Given the description of an element on the screen output the (x, y) to click on. 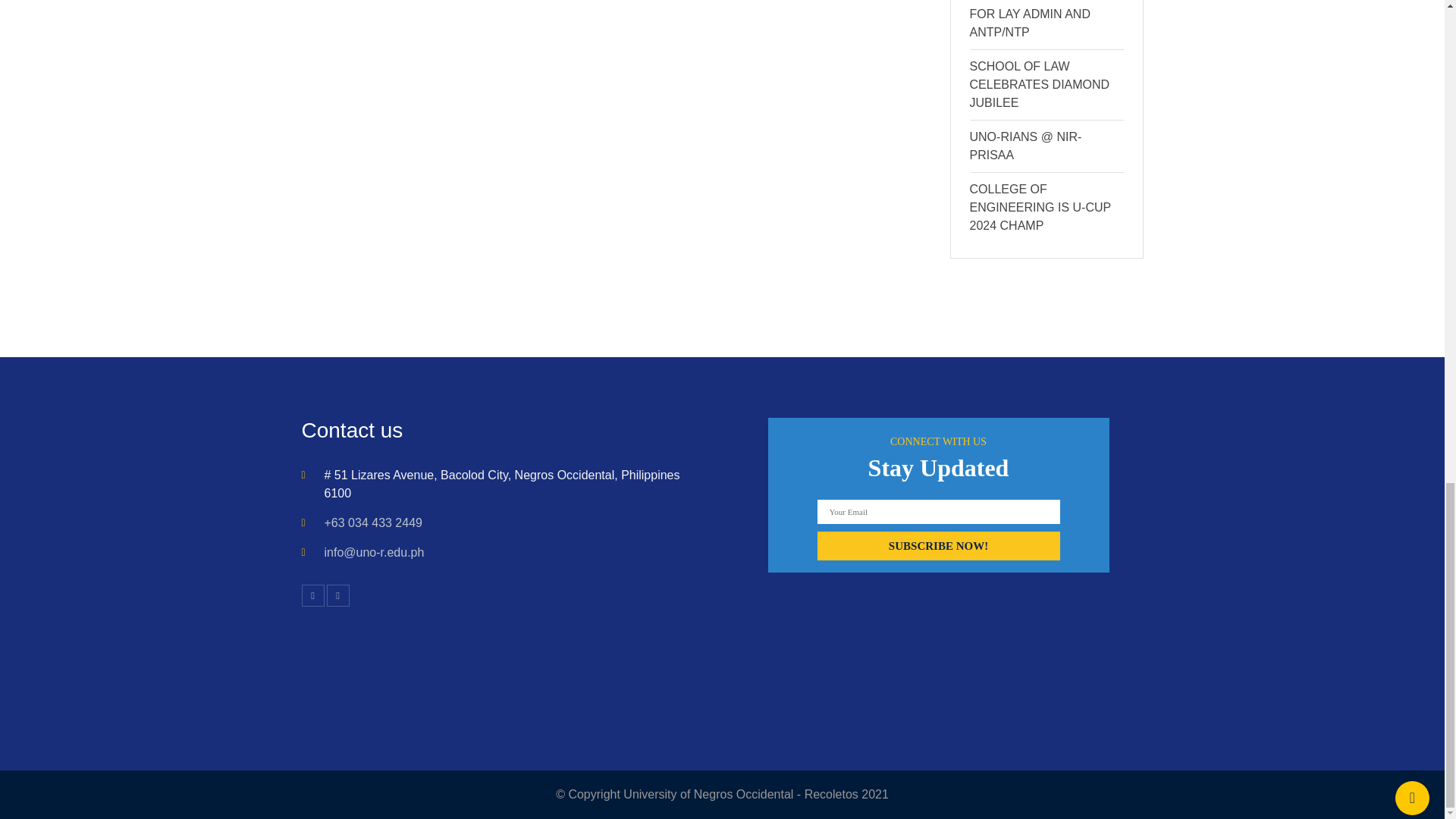
SUBSCRIBE NOW! (937, 545)
